Given the description of an element on the screen output the (x, y) to click on. 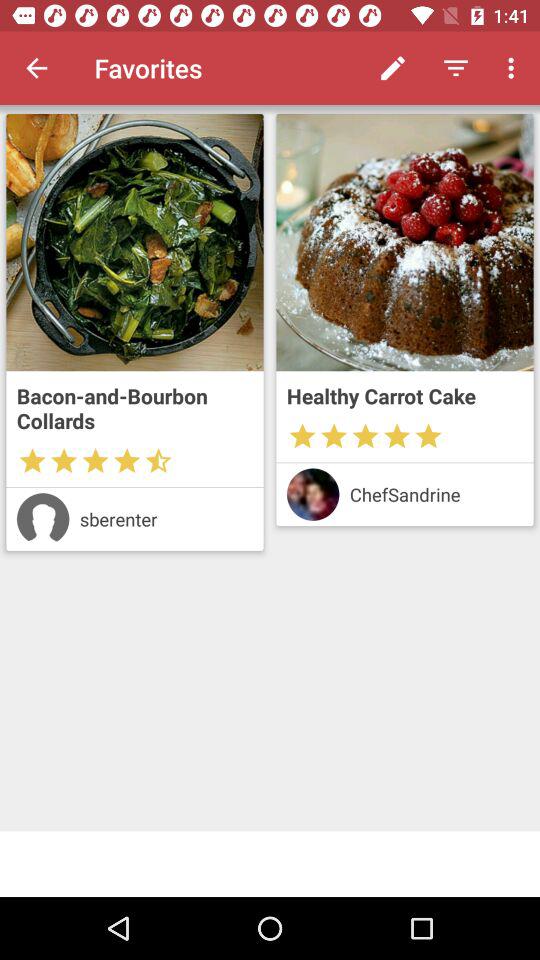
click icon next to favorites (392, 67)
